Given the description of an element on the screen output the (x, y) to click on. 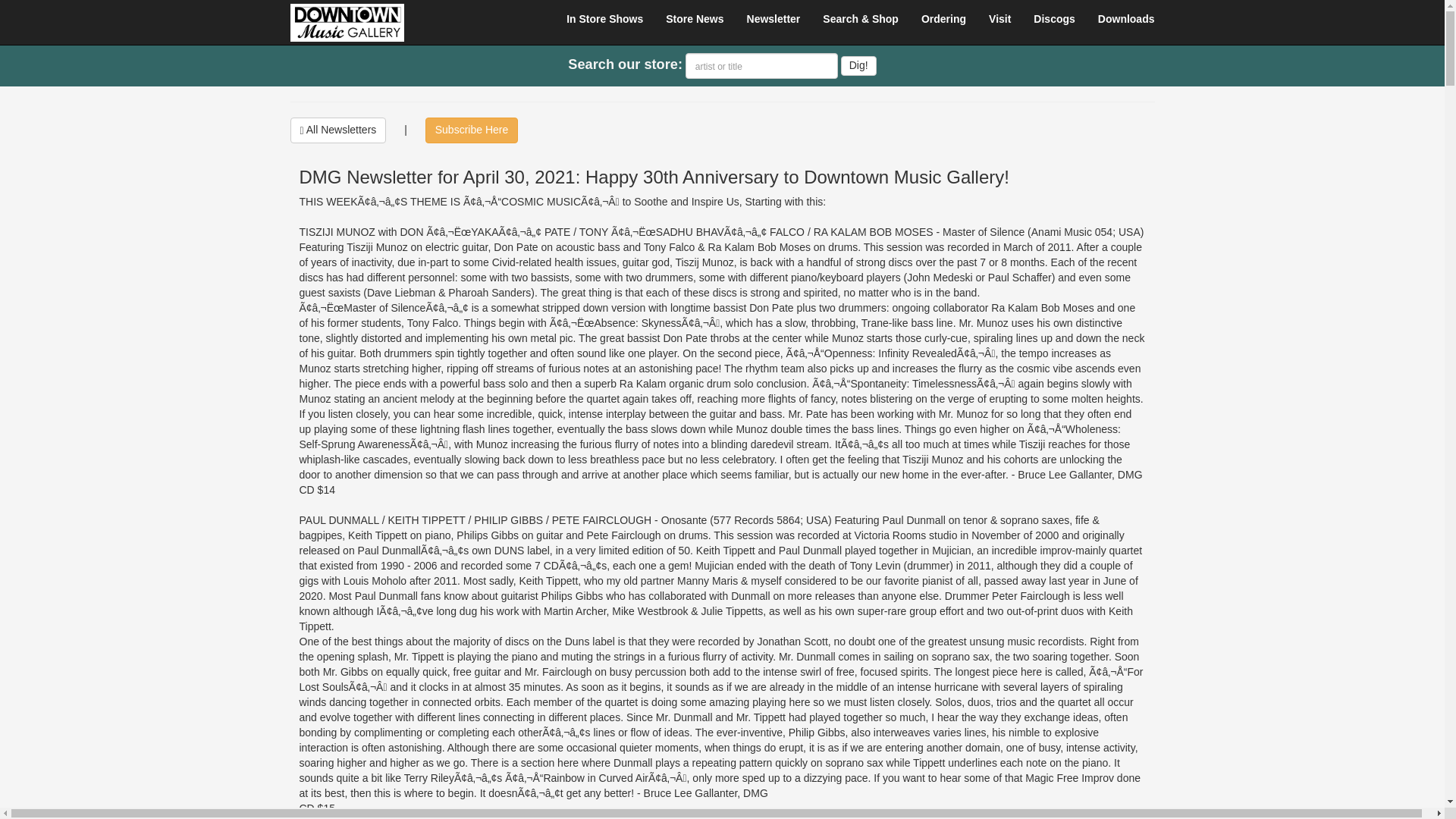
Downloads (1126, 18)
Dig! (858, 66)
In Store Shows (603, 18)
Ordering (943, 18)
Dig! (858, 66)
Subscribe Here (471, 130)
Newsletter (773, 18)
Visit (999, 18)
Store News (694, 18)
Discogs (1054, 18)
All Newsletters (337, 130)
